Given the description of an element on the screen output the (x, y) to click on. 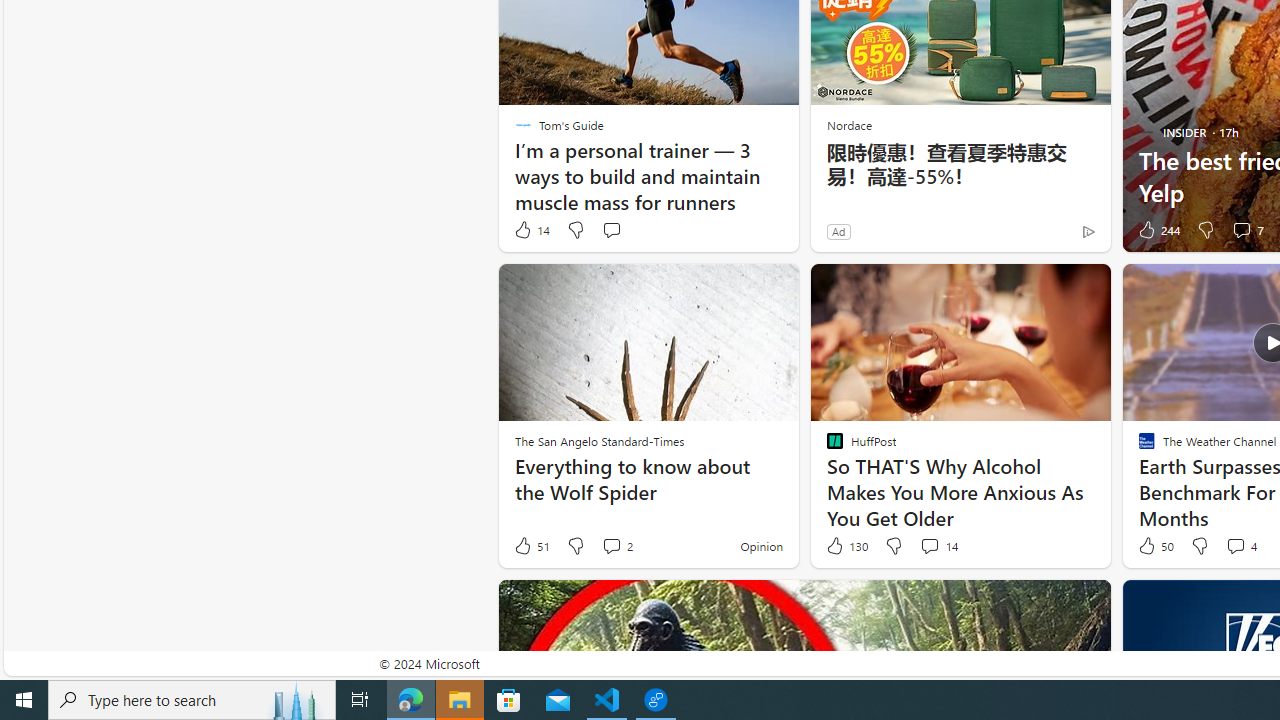
130 Like (845, 546)
51 Like (531, 546)
Hide this story (1050, 603)
14 Like (531, 230)
View comments 14 Comment (929, 545)
50 Like (1154, 546)
View comments 14 Comment (938, 546)
View comments 4 Comment (1240, 546)
